Given the description of an element on the screen output the (x, y) to click on. 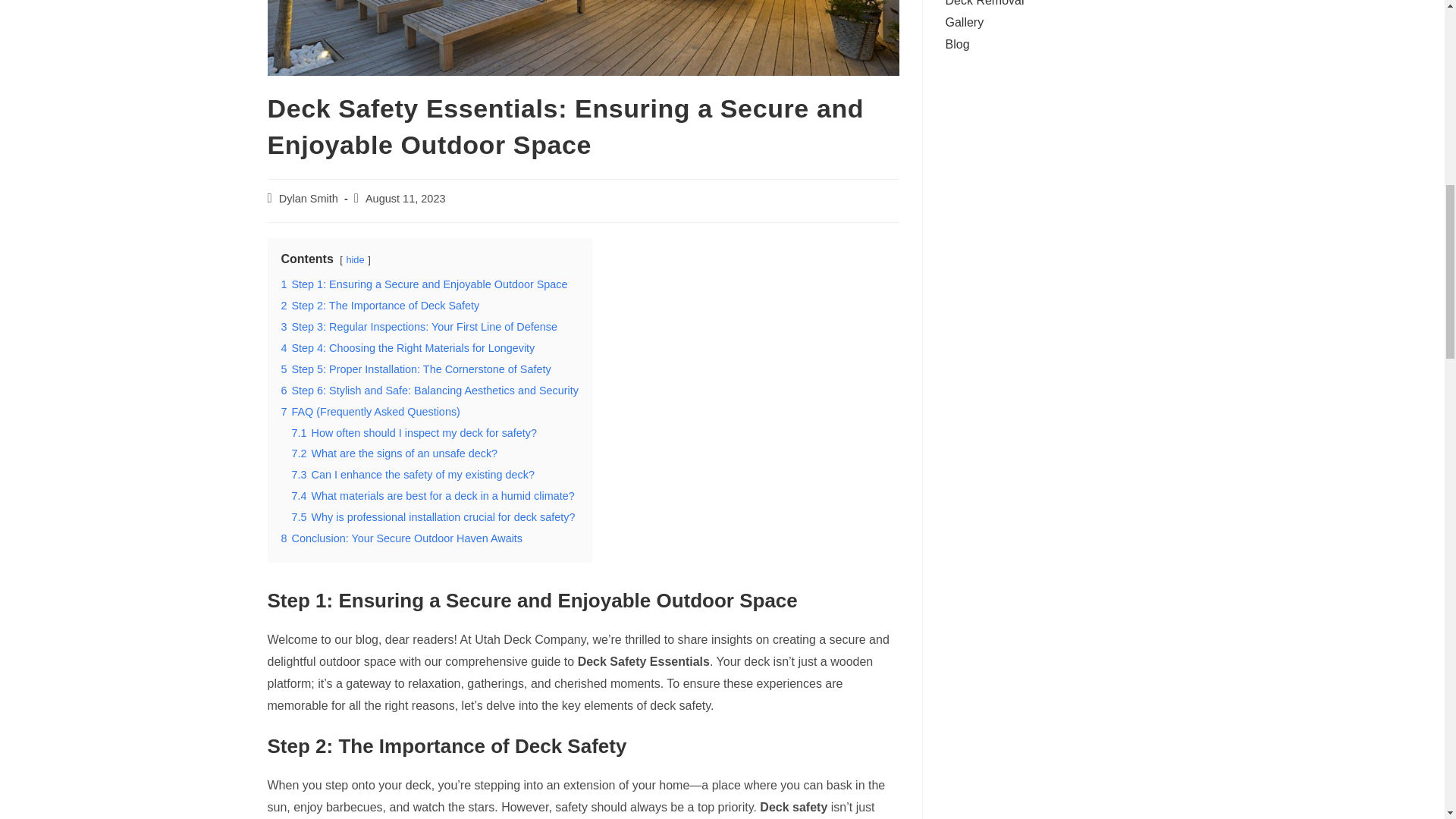
Dylan Smith (308, 198)
3 Step 3: Regular Inspections: Your First Line of Defense (418, 326)
2 Step 2: The Importance of Deck Safety (380, 305)
hide (355, 259)
1 Step 1: Ensuring a Secure and Enjoyable Outdoor Space (424, 284)
Posts by Dylan Smith (308, 198)
